Given the description of an element on the screen output the (x, y) to click on. 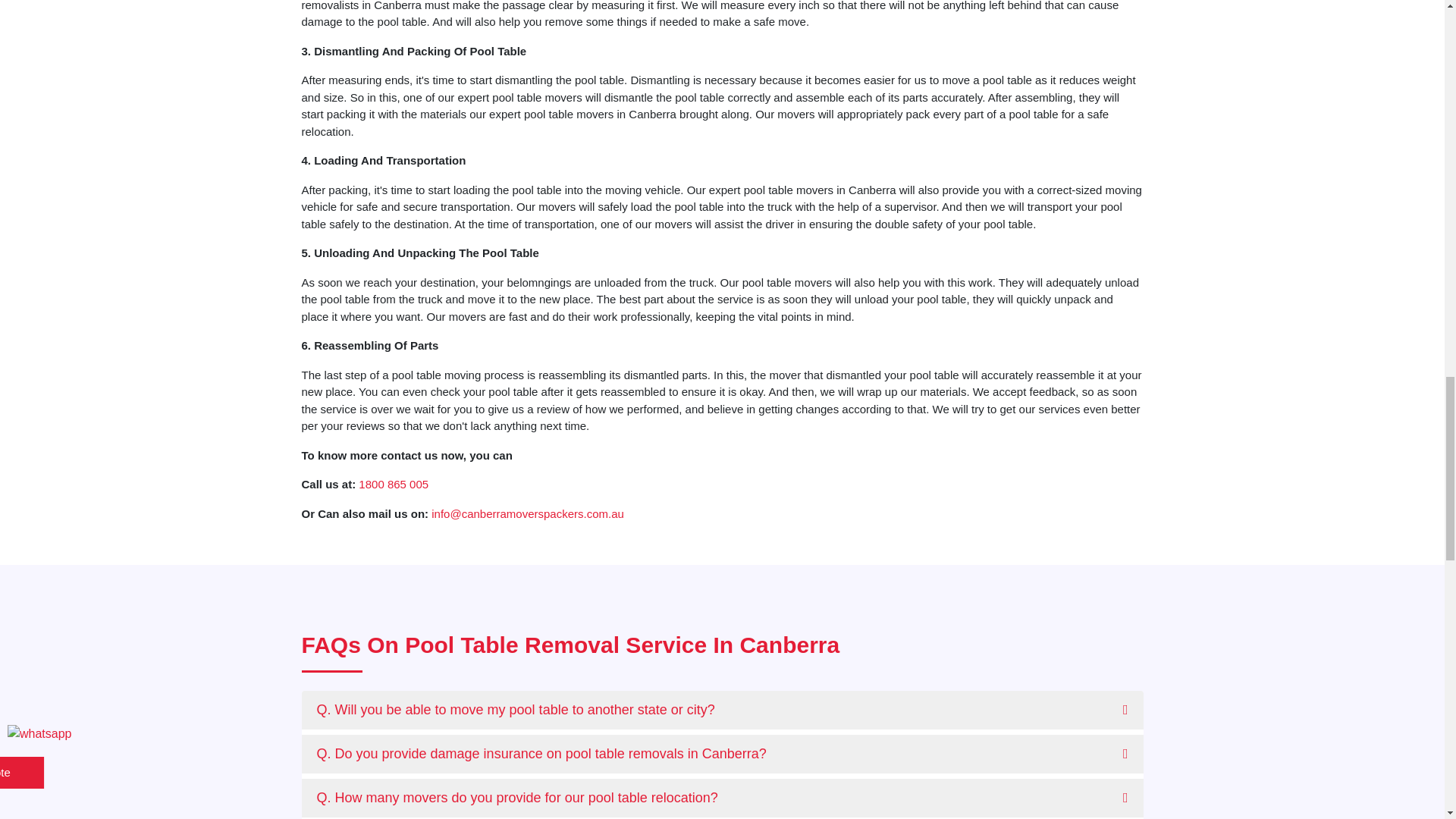
1800 865 005 (393, 483)
